Given the description of an element on the screen output the (x, y) to click on. 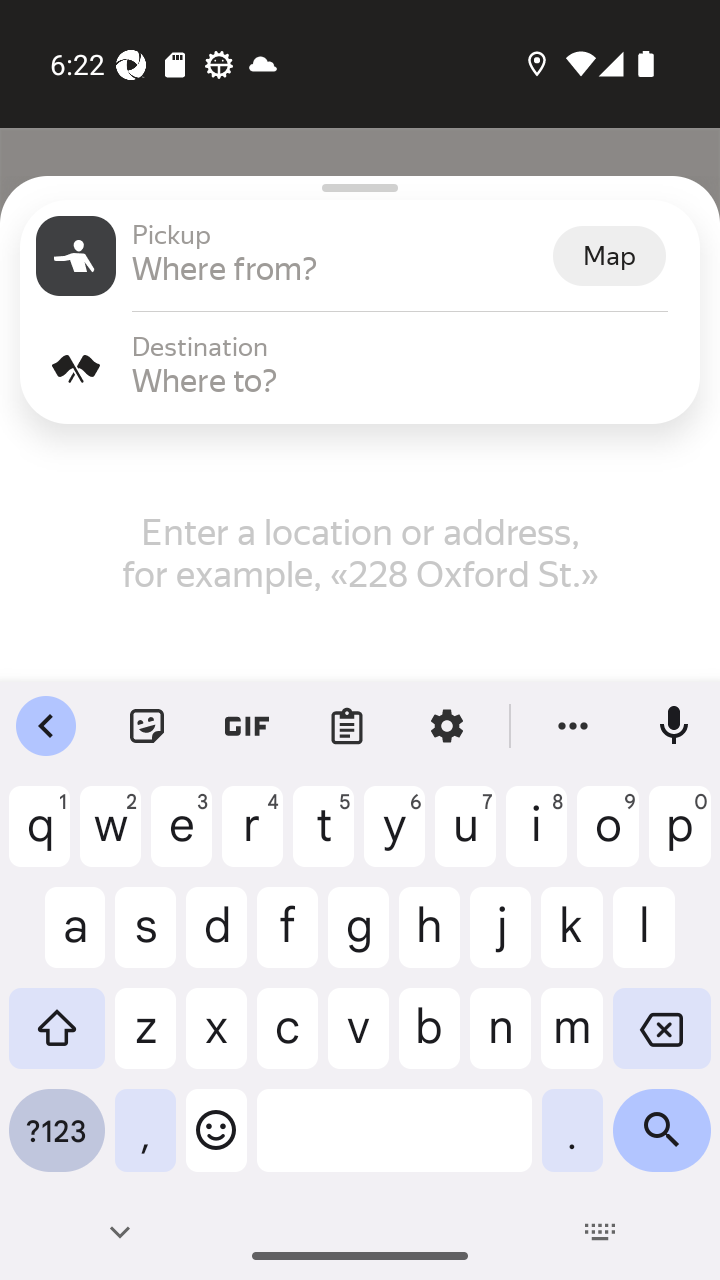
Pickup Pickup Where from? Map (359, 255)
Map (609, 256)
Where from? (340, 268)
Destination Destination Where to? (359, 367)
Where to? (407, 380)
